Given the description of an element on the screen output the (x, y) to click on. 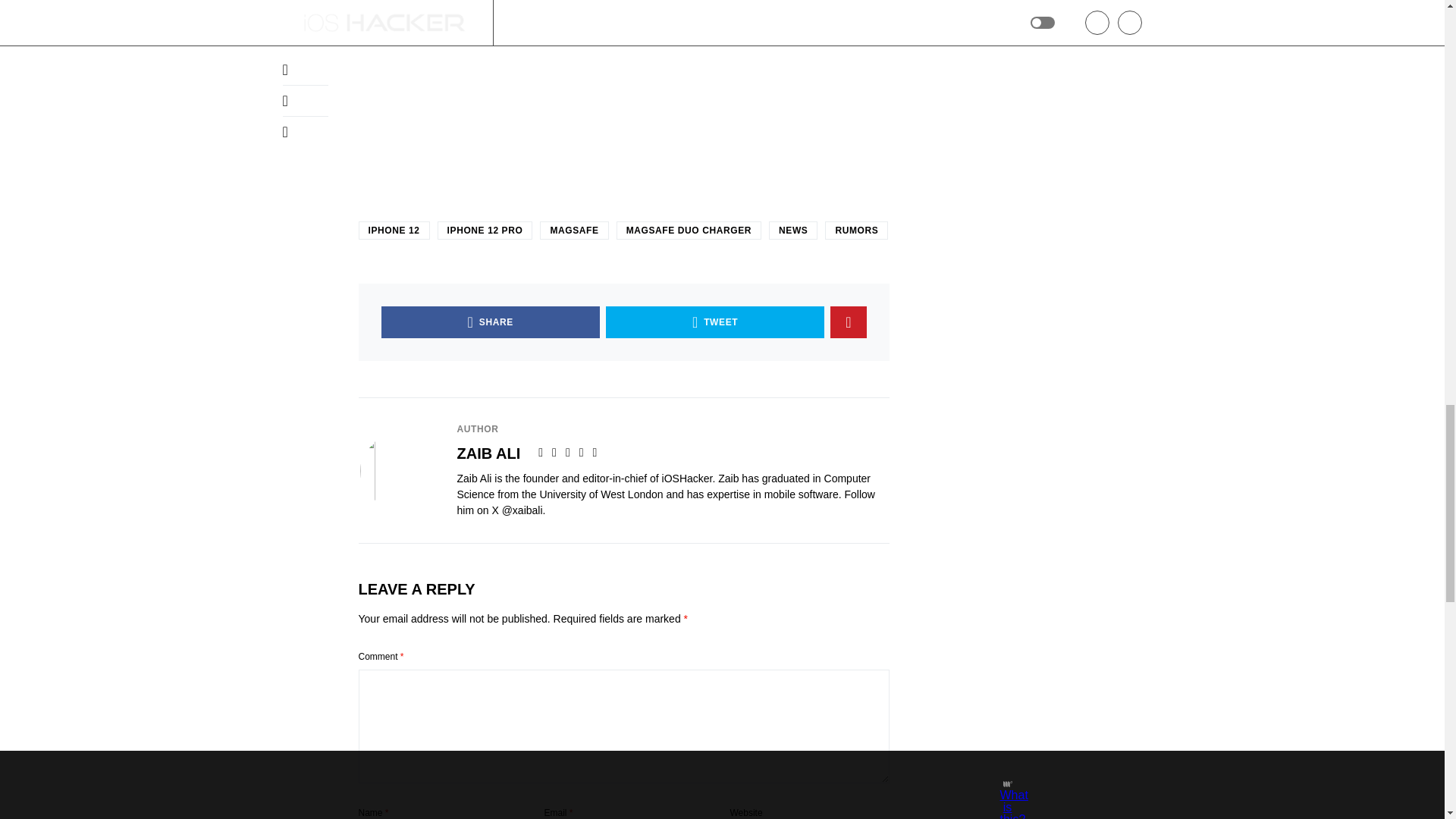
YouTube video player (623, 88)
